Given the description of an element on the screen output the (x, y) to click on. 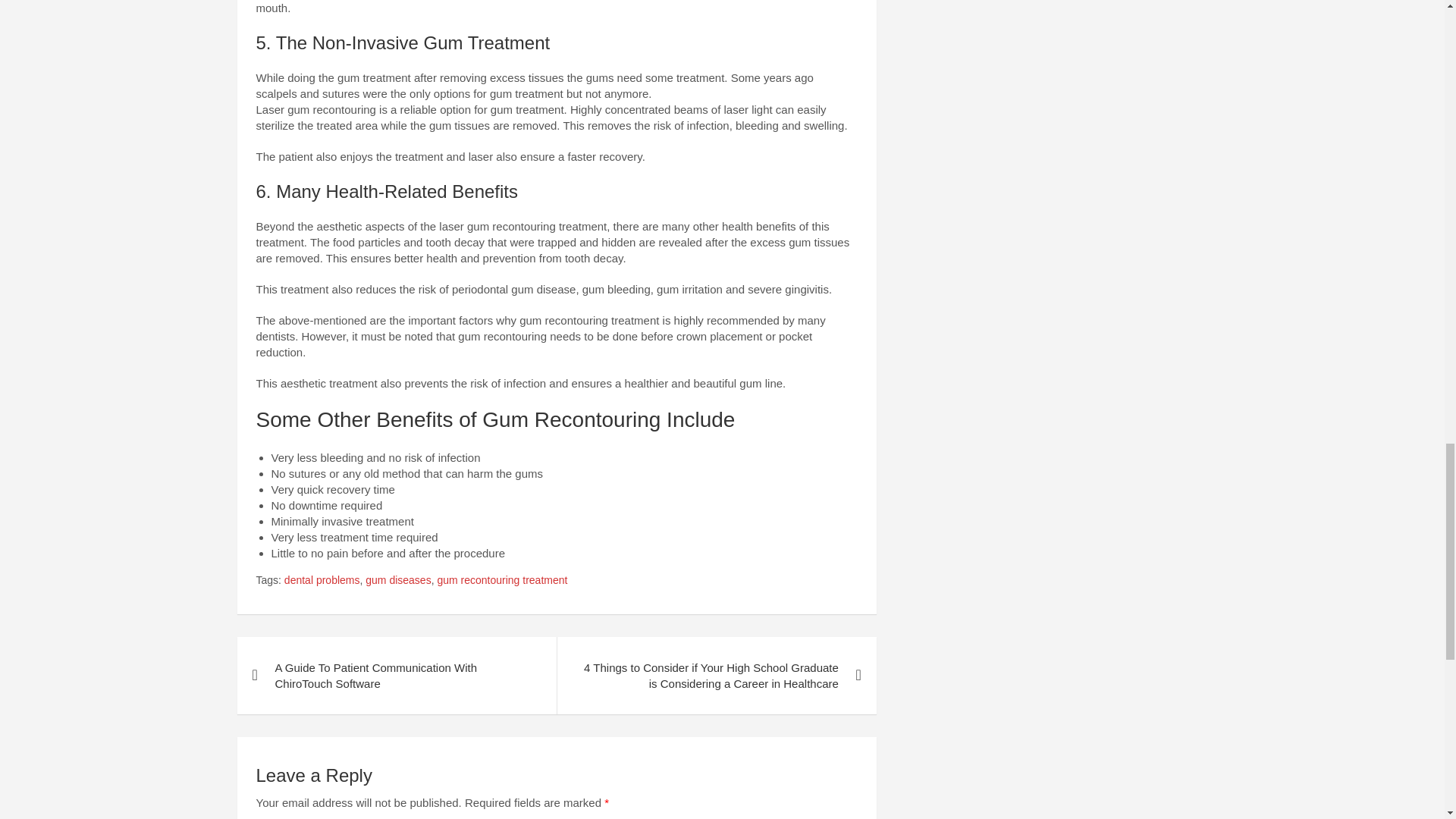
gum recontouring treatment (501, 580)
A Guide To Patient Communication With ChiroTouch Software (395, 675)
dental problems (321, 580)
gum diseases (397, 580)
